Given the description of an element on the screen output the (x, y) to click on. 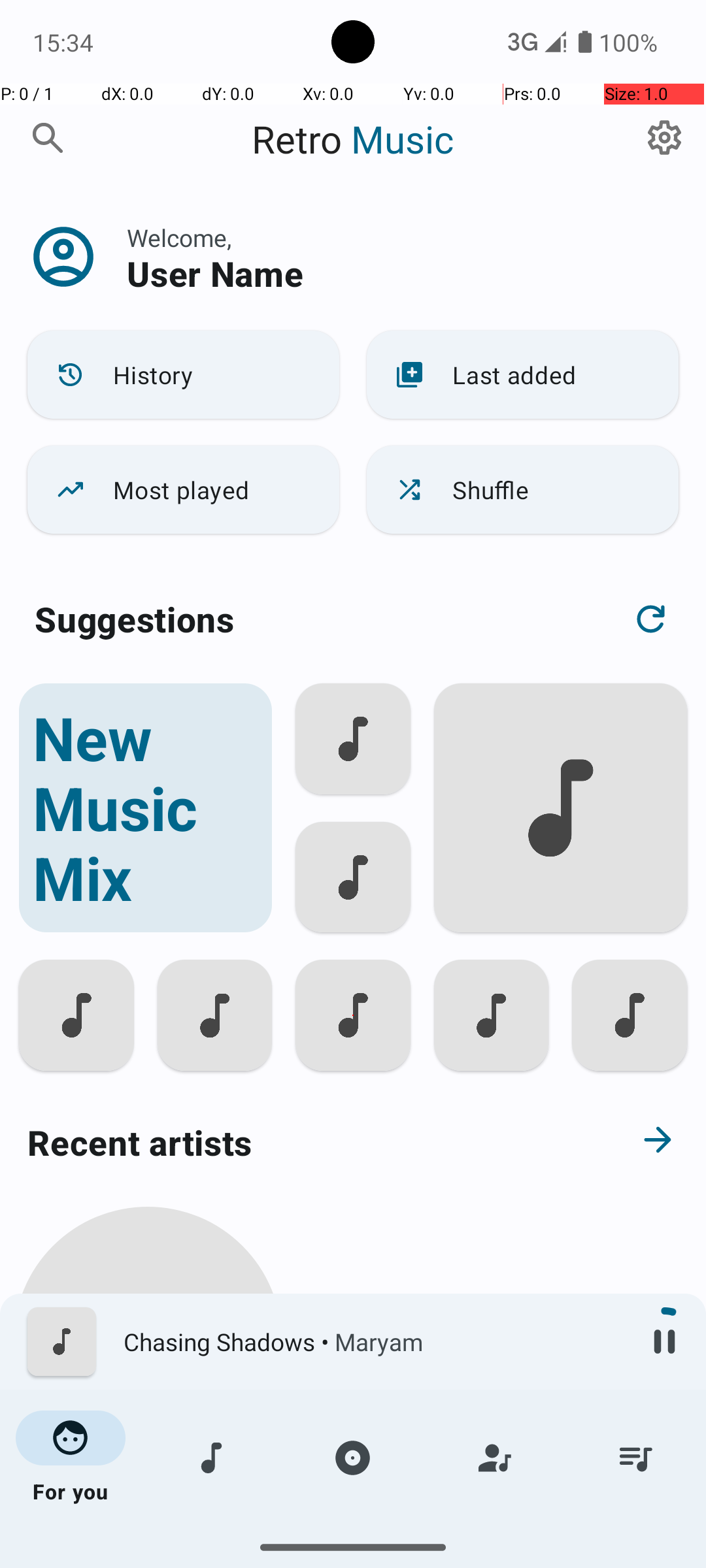
Chasing Shadows • Maryam Element type: android.widget.TextView (372, 1341)
Sophie Element type: android.widget.TextView (147, 1503)
